Given the description of an element on the screen output the (x, y) to click on. 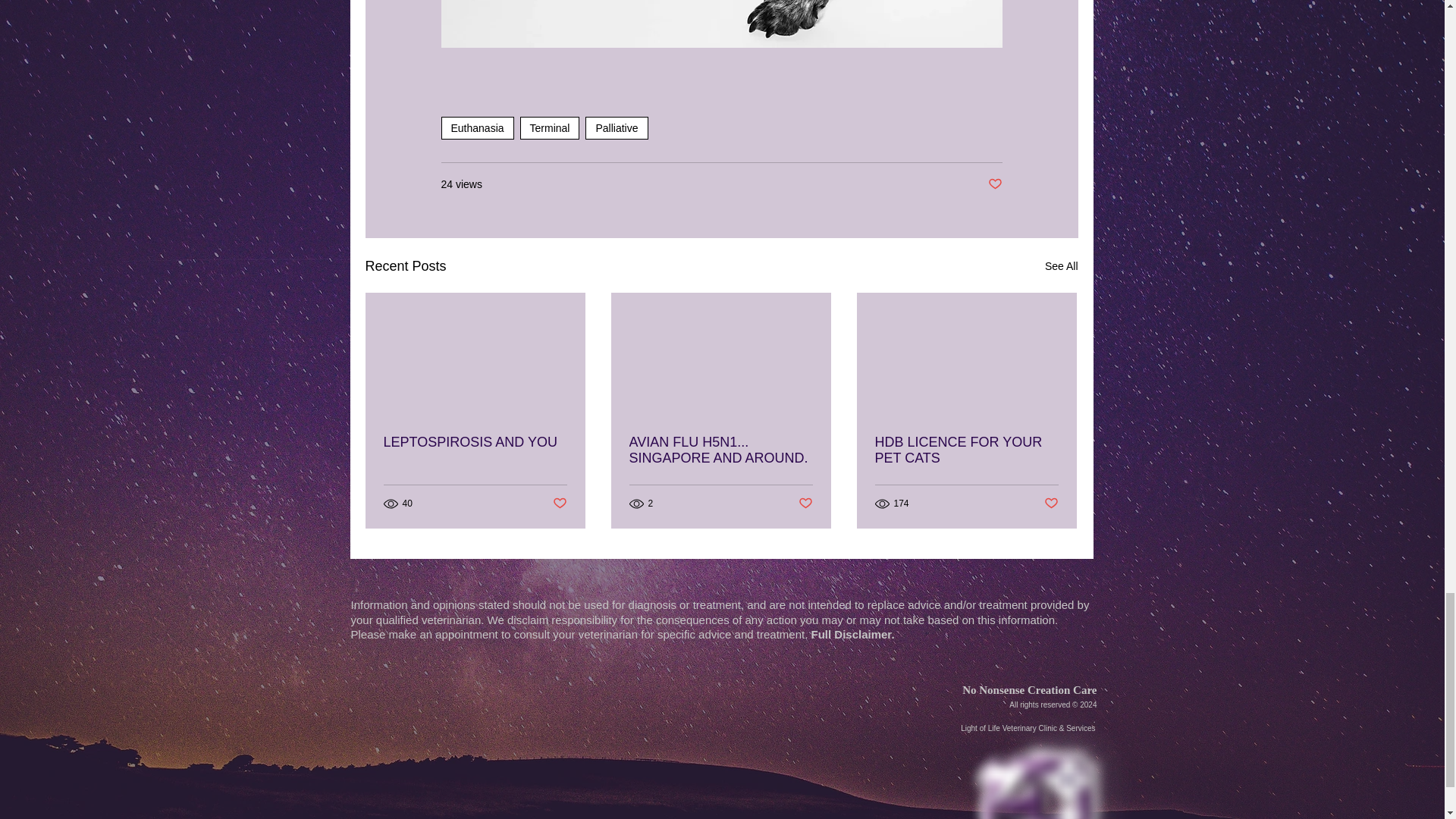
Post not marked as liked (994, 184)
LEPTOSPIROSIS AND YOU (475, 442)
Palliative (616, 128)
Post not marked as liked (804, 503)
AVIAN FLU H5N1... SINGAPORE AND AROUND. (720, 450)
HDB LICENCE FOR YOUR PET CATS (966, 450)
Post not marked as liked (1050, 503)
Euthanasia (477, 128)
Terminal (549, 128)
Post not marked as liked (558, 503)
